Given the description of an element on the screen output the (x, y) to click on. 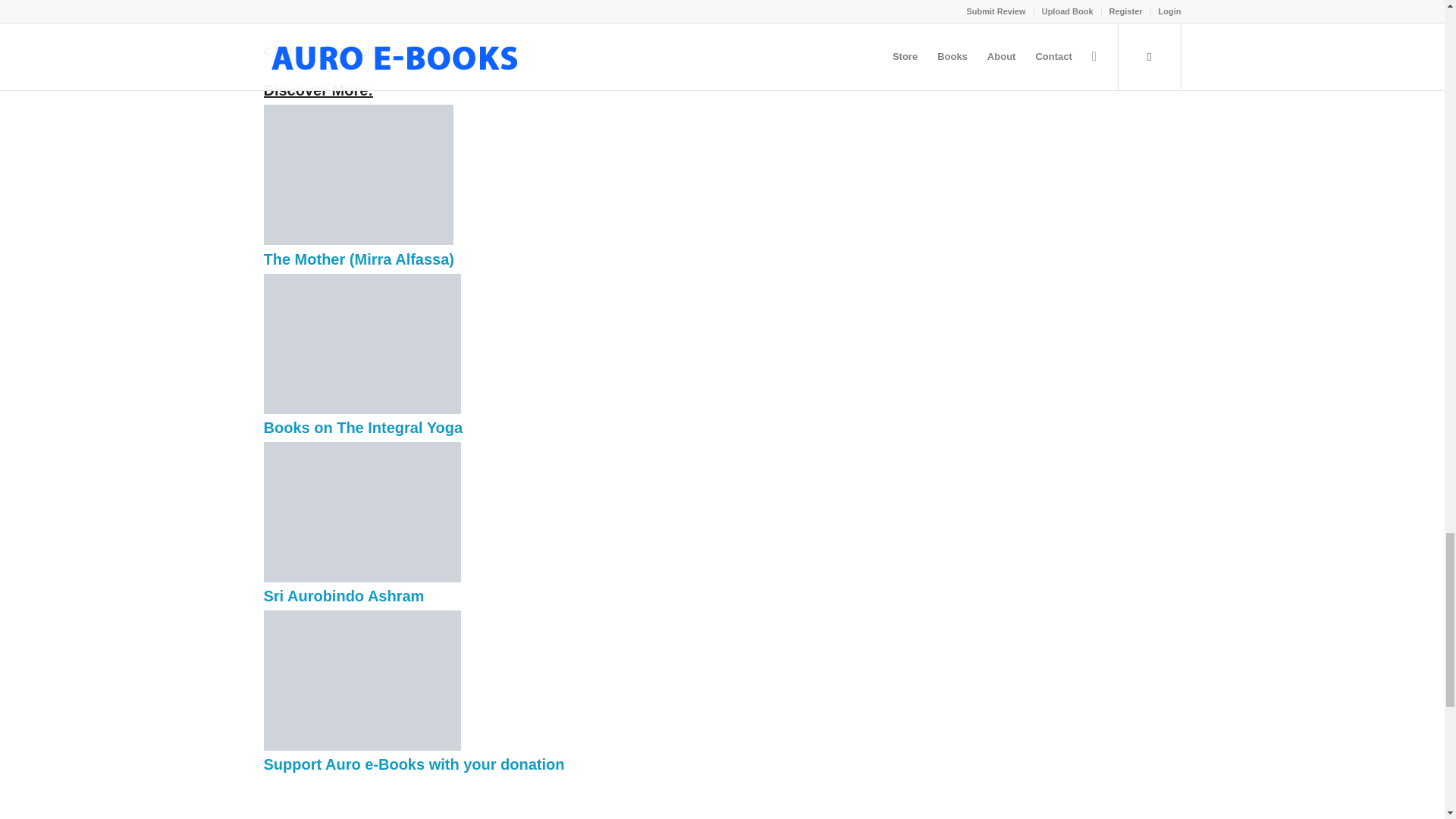
Sri Aurobindo Ashram (362, 578)
Books on The Integral Yoga (363, 427)
Sri Aurobindo Ashram (344, 596)
Support Auro e-Books with your donation (413, 764)
Sri Aurobindo Ashram (344, 596)
Books on The Integral Yoga (363, 427)
Books on The Integral Yoga (362, 409)
Support Auro e-Books with your donation (413, 764)
Support Auro e-Books with your donation (362, 746)
